Given the description of an element on the screen output the (x, y) to click on. 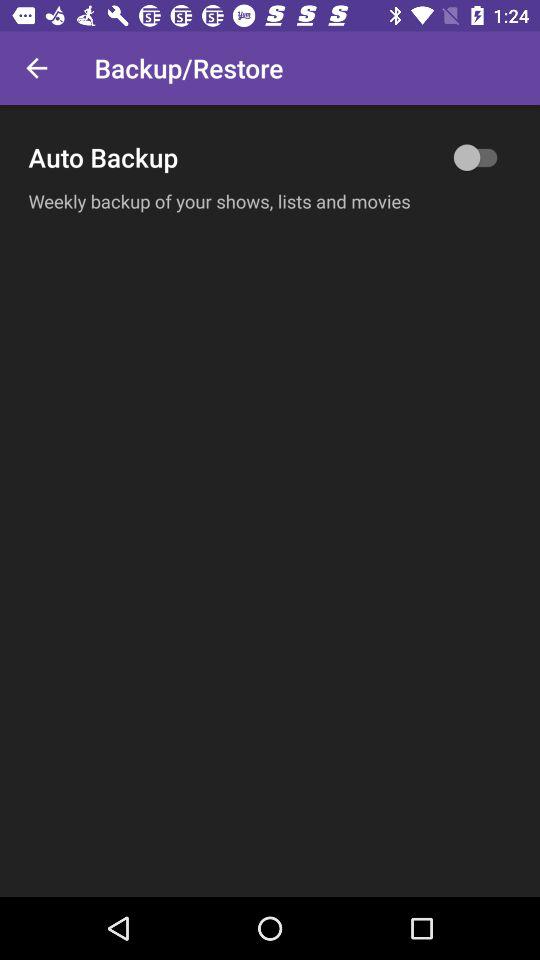
swipe to auto backup item (269, 157)
